Given the description of an element on the screen output the (x, y) to click on. 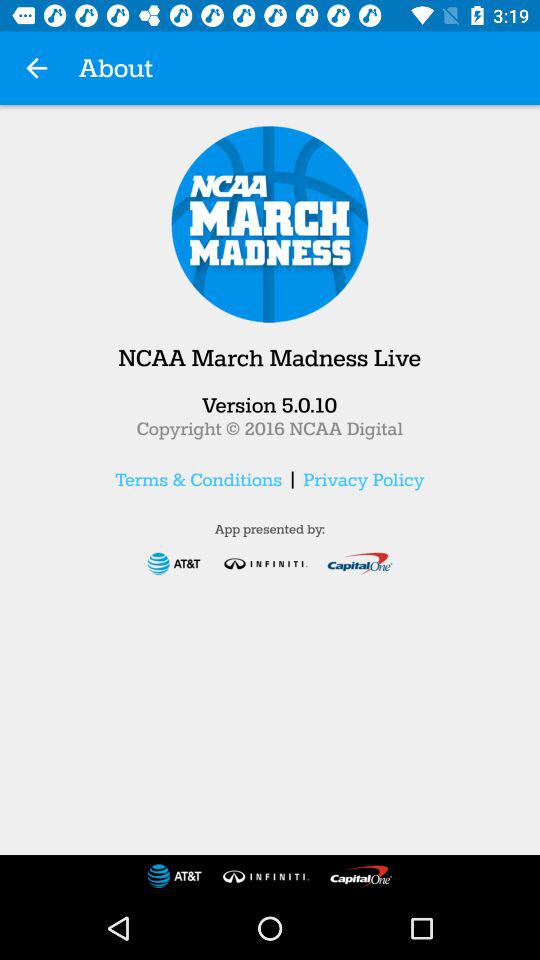
choose the icon next to the  |  item (198, 479)
